Given the description of an element on the screen output the (x, y) to click on. 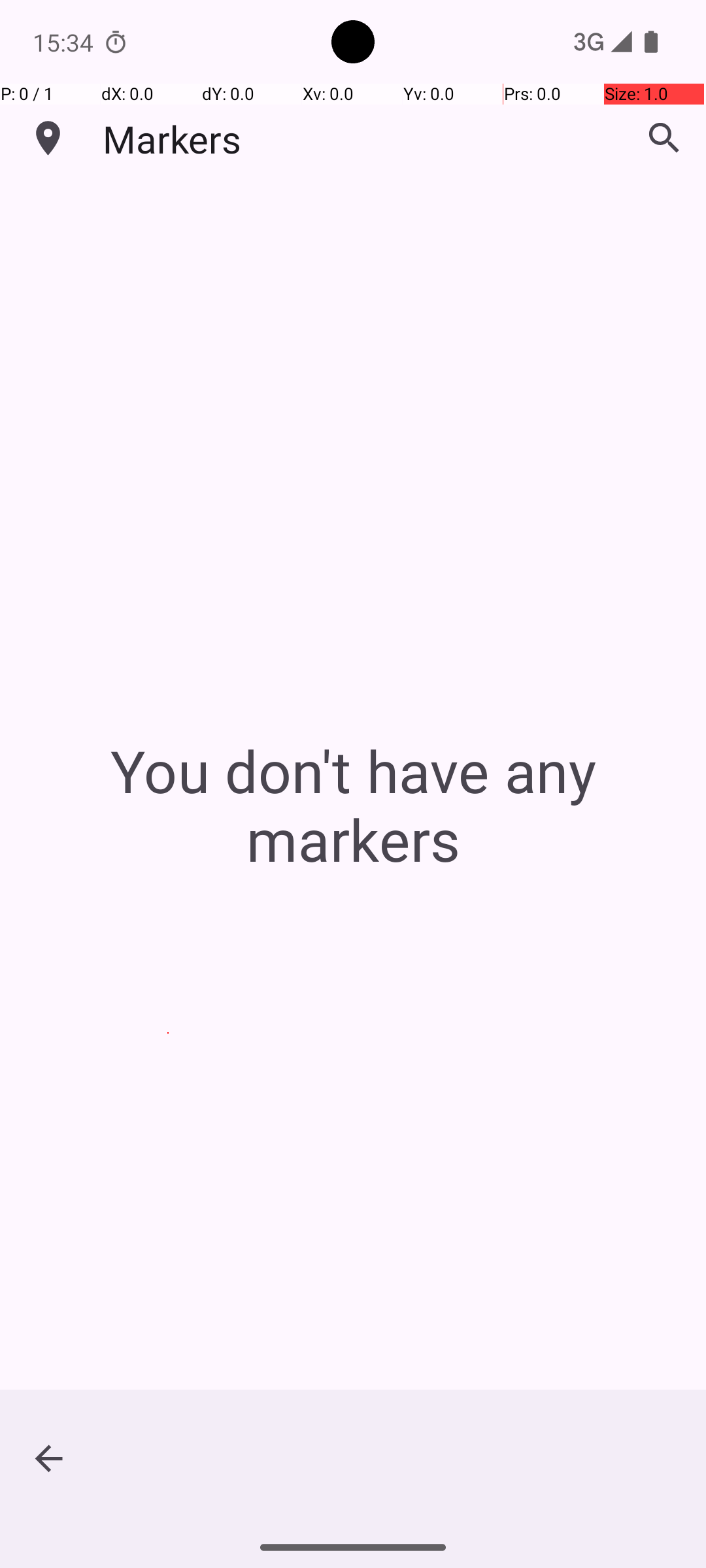
You don't have any markers Element type: android.widget.TextView (353, 805)
